Given the description of an element on the screen output the (x, y) to click on. 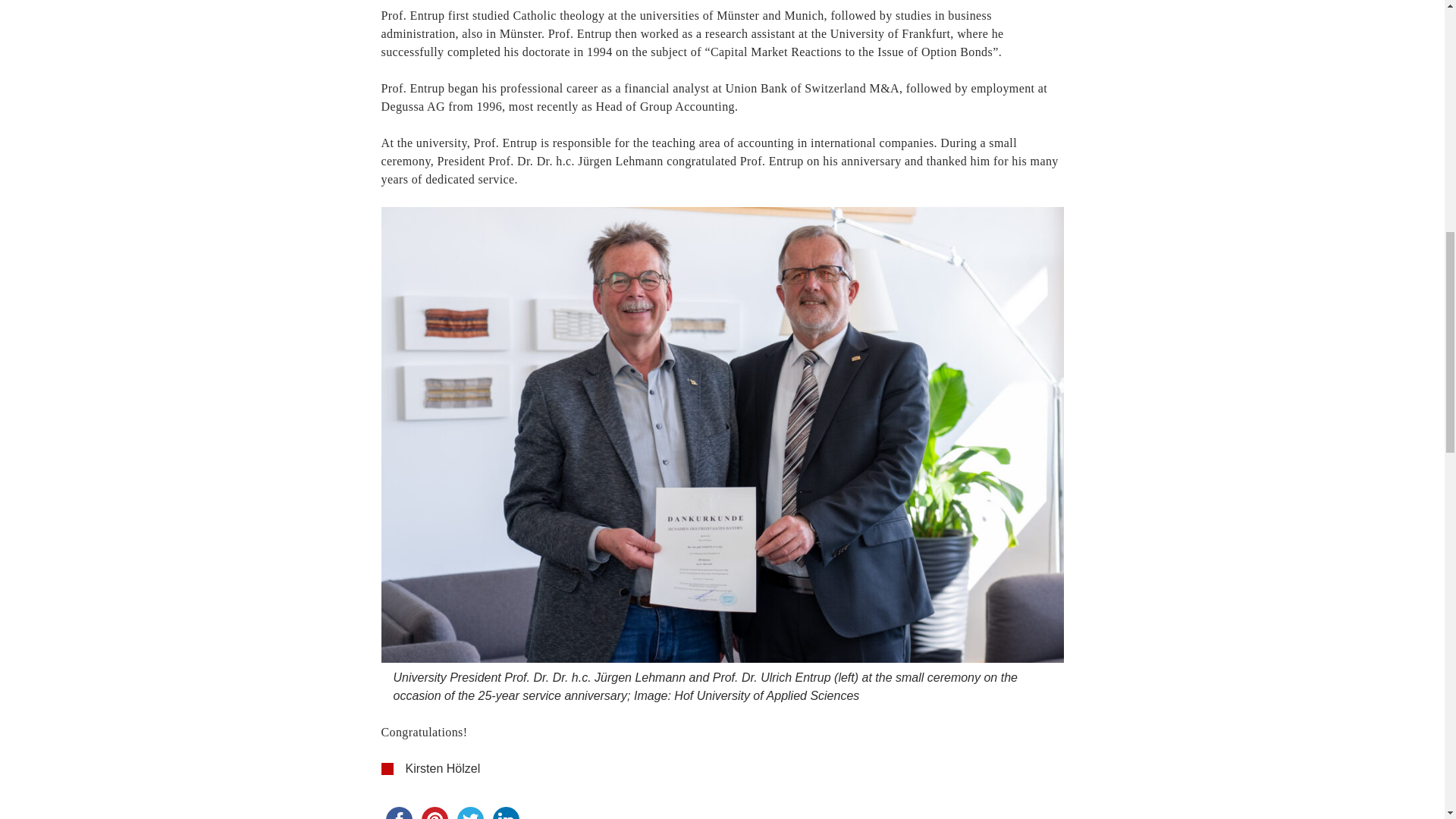
pinterest (434, 810)
linkedin (505, 810)
facebook (398, 810)
twitter (469, 810)
